Given the description of an element on the screen output the (x, y) to click on. 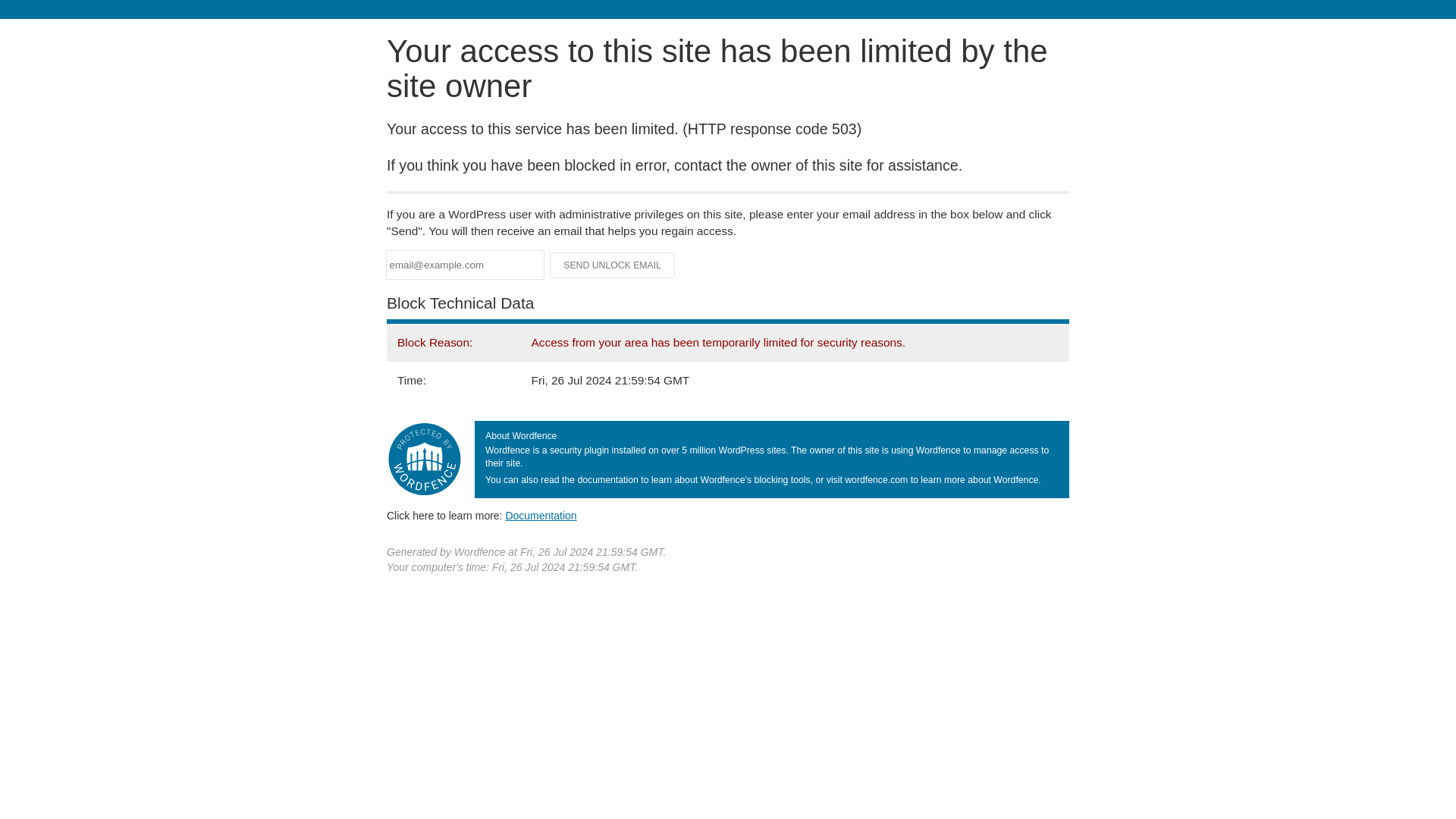
Send Unlock Email (612, 265)
Documentation (540, 515)
Send Unlock Email (612, 265)
